Given the description of an element on the screen output the (x, y) to click on. 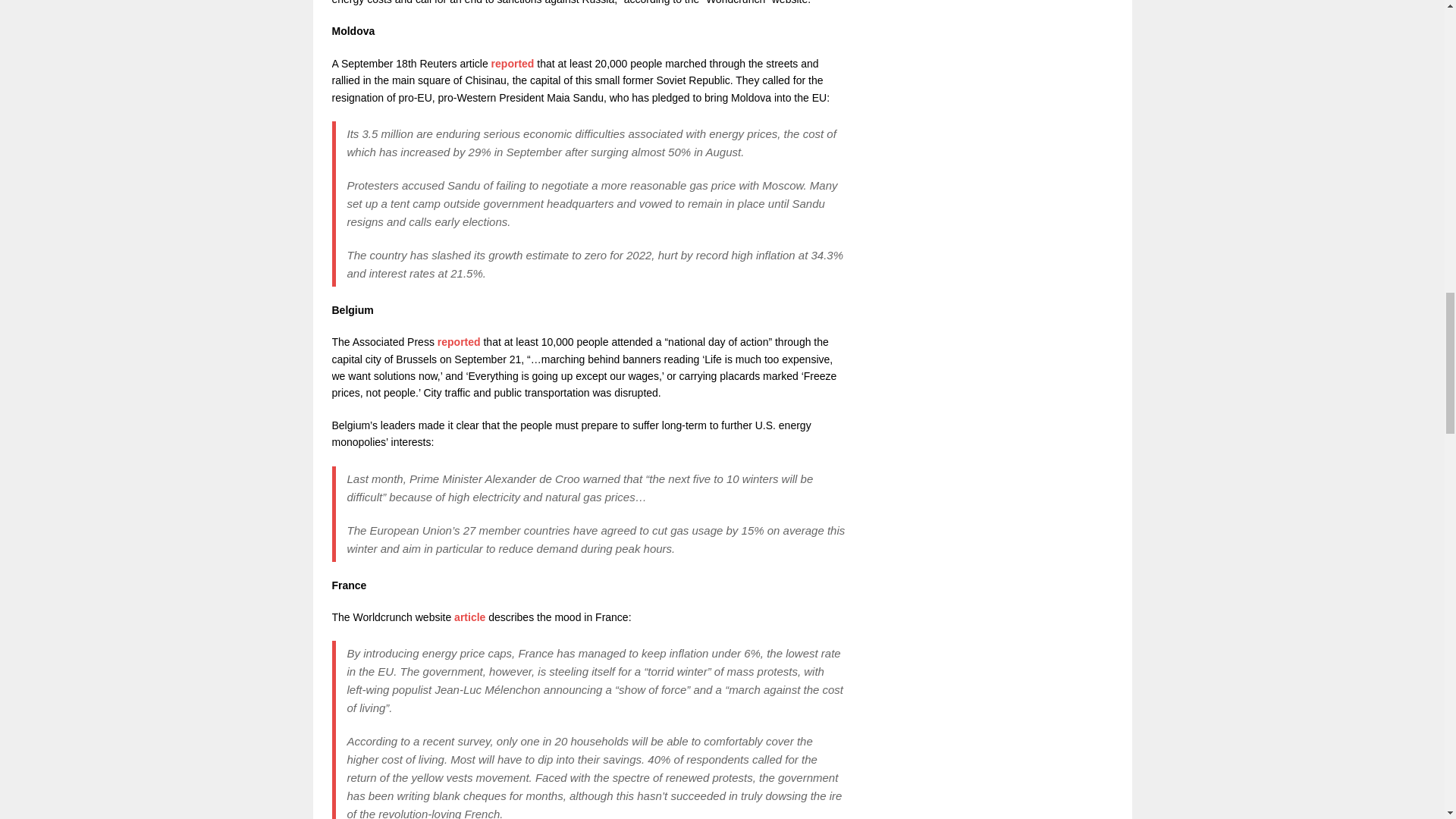
reported (513, 63)
reported (459, 341)
article (469, 616)
